Given the description of an element on the screen output the (x, y) to click on. 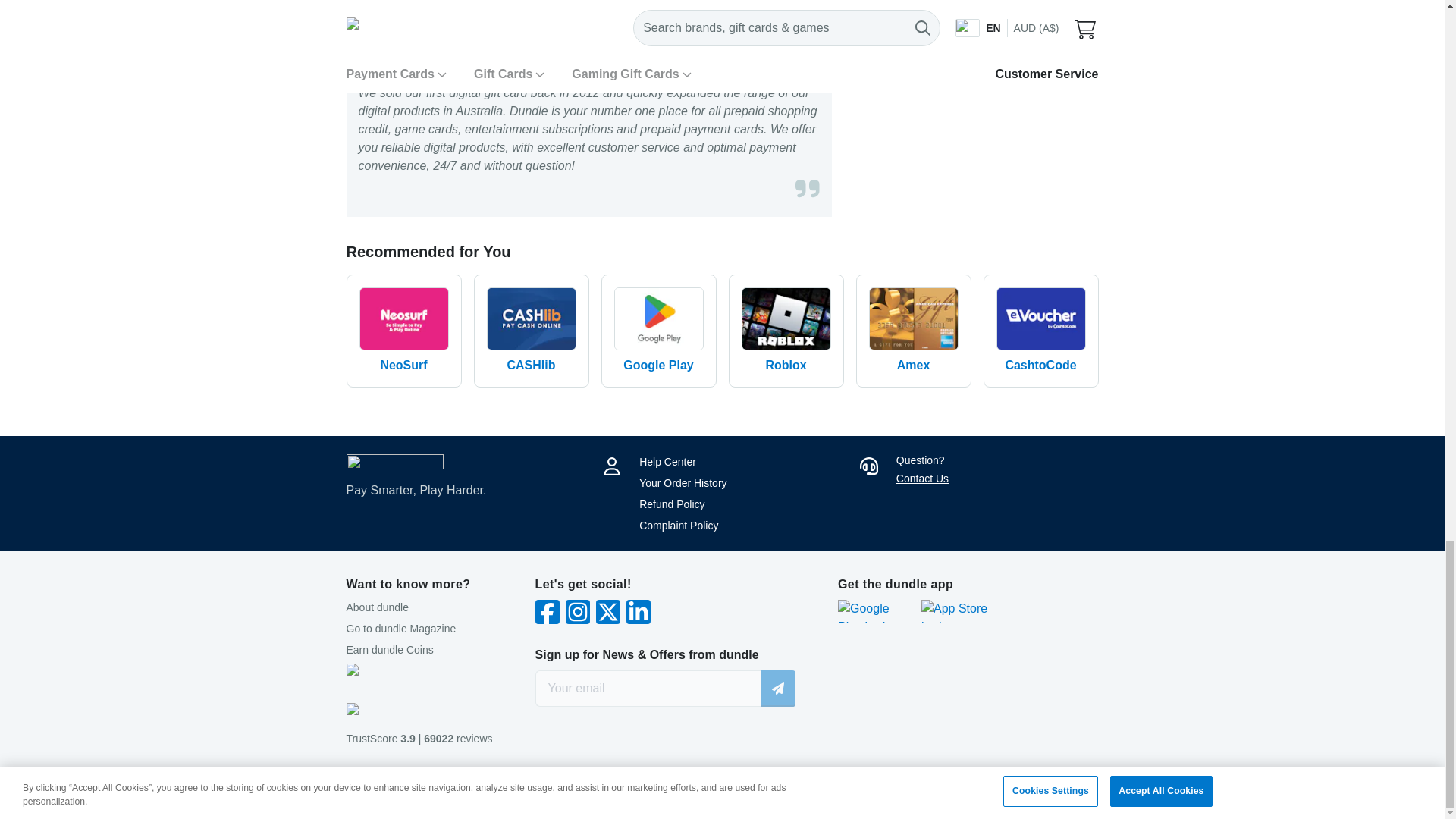
Refund Policy (671, 503)
Google Play (657, 331)
Amex (913, 331)
Roblox (785, 331)
CASHlib (530, 331)
CashtoCode (1039, 331)
Complaint Policy (678, 525)
Your Order History (682, 482)
NeoSurf (403, 331)
Help Center (667, 461)
